Given the description of an element on the screen output the (x, y) to click on. 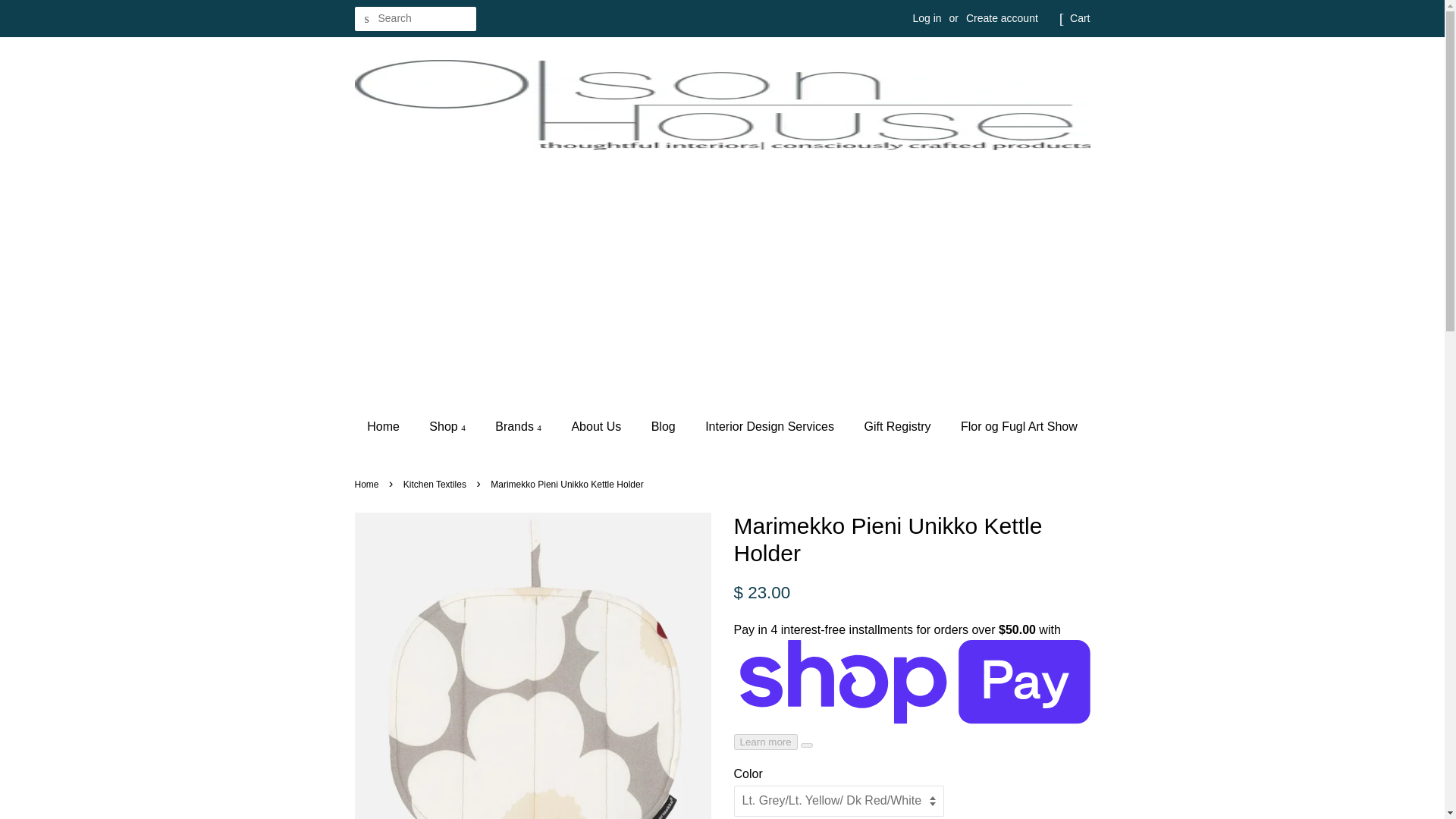
Cart (1079, 18)
Create account (1002, 18)
Log in (927, 18)
Back to the frontpage (368, 484)
Search (366, 18)
